Given the description of an element on the screen output the (x, y) to click on. 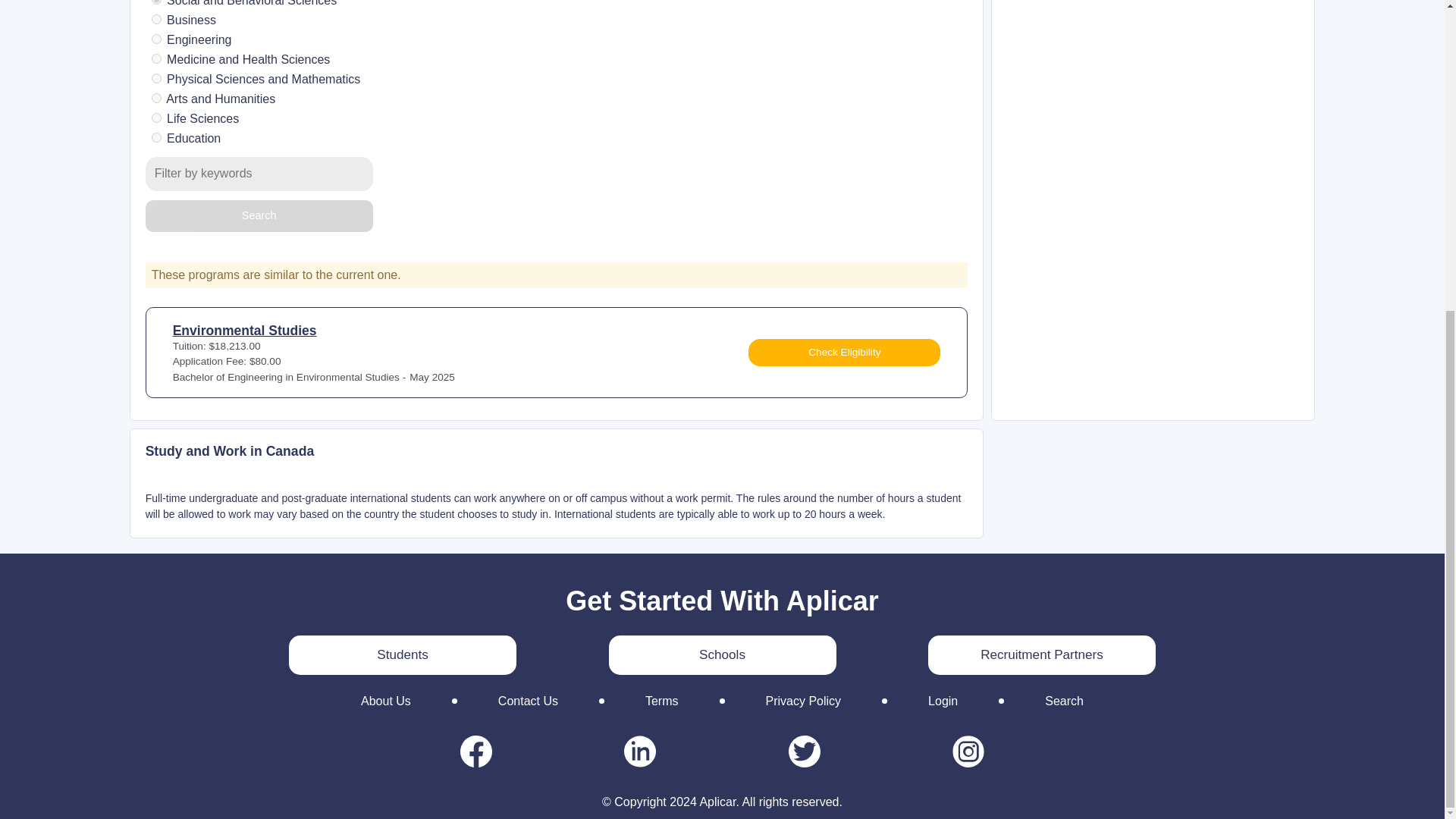
Check Eligibility (844, 352)
Contact Us (528, 701)
Privacy Policy (804, 701)
Search (1064, 701)
1ca302e6-6a5d-46d1-b594-9dc7c873a0bd (156, 19)
6d176c99-25e9-4c1b-87ec-9ff30994c7bd (156, 78)
Students (402, 654)
Schools (721, 654)
1270533b-9ea2-4bb4-8b9e-5fa1cd74656b (156, 2)
91d0b218-f5ec-4f8c-880b-e4ba1fcdc48d (156, 98)
